Given the description of an element on the screen output the (x, y) to click on. 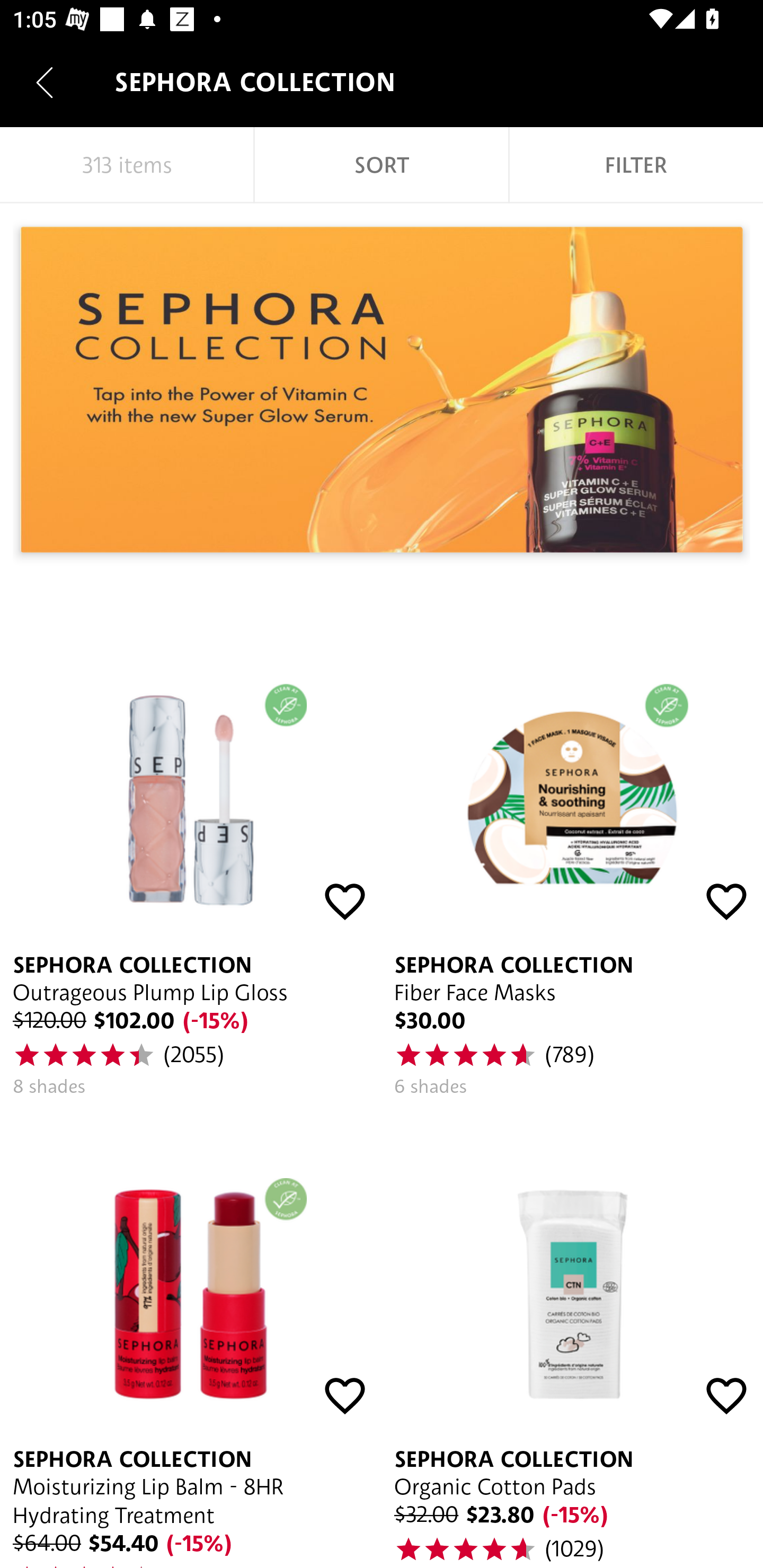
Navigate up (44, 82)
SORT (381, 165)
FILTER (636, 165)
